Given the description of an element on the screen output the (x, y) to click on. 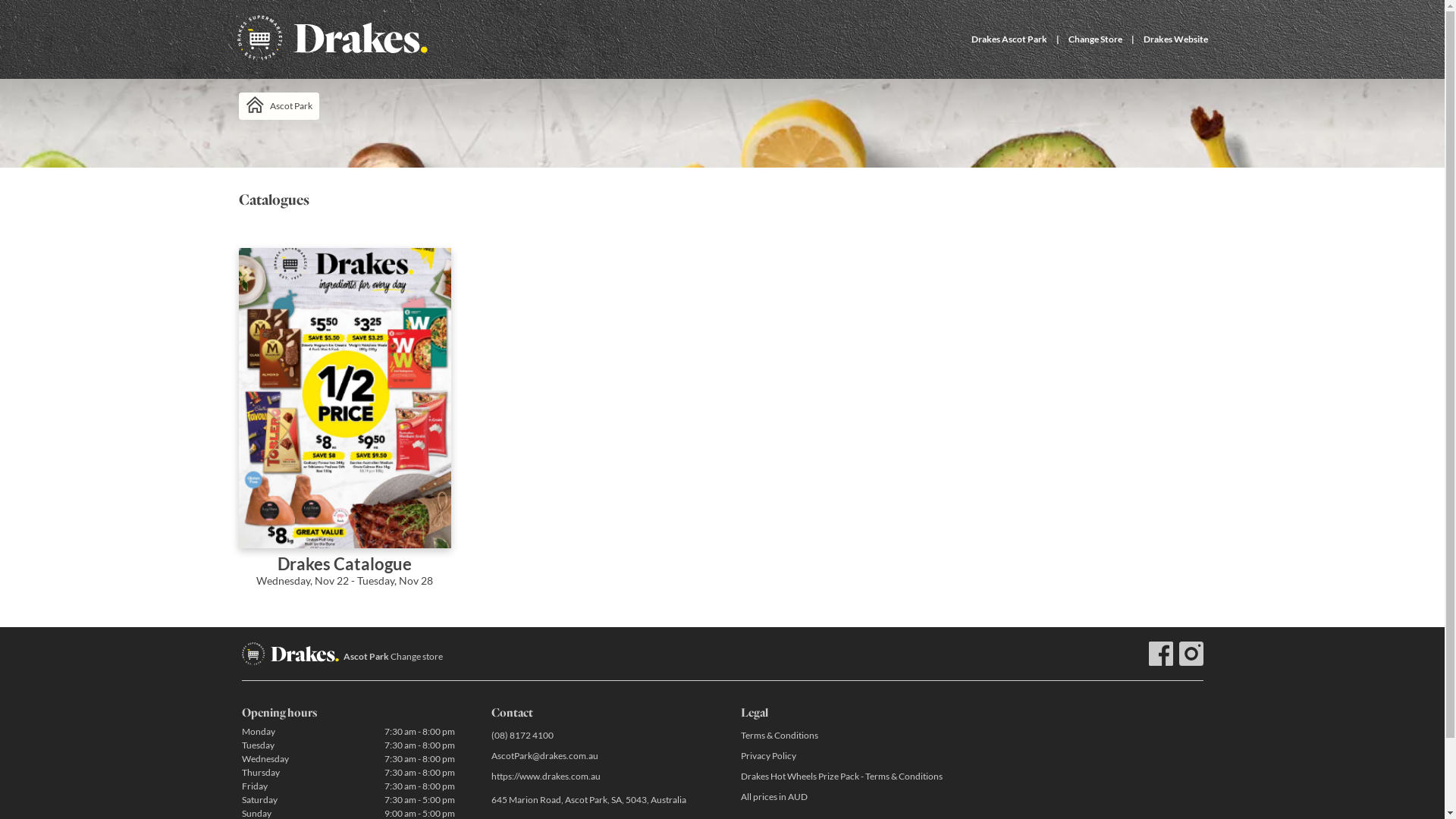
Ascot Park Element type: text (278, 105)
Privacy Policy Element type: text (846, 755)
Drakes Hot Wheels Prize Pack - Terms & Conditions Element type: text (846, 775)
Ascot Park Change store Element type: text (392, 656)
Drakes Catalogue
Wednesday, Nov 22 - Tuesday, Nov 28 Element type: text (344, 427)
AscotPark@drakes.com.au Element type: text (597, 755)
Terms & Conditions Element type: text (846, 734)
(08) 8172 4100 Element type: text (597, 734)
Drakes Website Element type: text (1175, 38)
645 Marion Road, Ascot Park, SA, 5043, Australia Element type: text (597, 800)
Facebook Element type: hover (1160, 653)
https://www.drakes.com.au Element type: text (597, 775)
Change Store Element type: text (1094, 38)
Instagram drakessupermarkets Element type: hover (1190, 653)
